Given the description of an element on the screen output the (x, y) to click on. 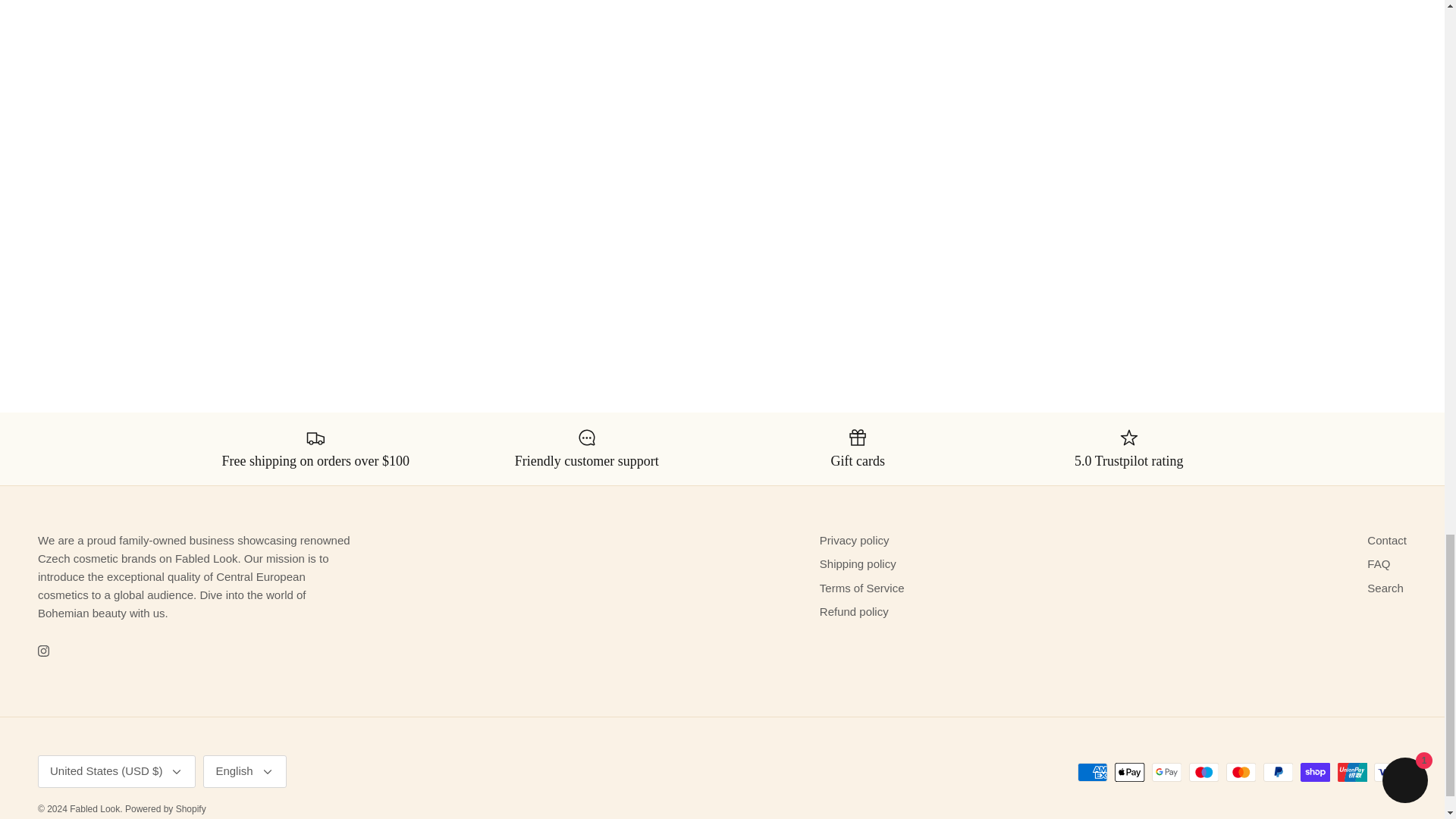
Instagram (43, 650)
Apple Pay (1129, 772)
American Express (1092, 772)
